Given the description of an element on the screen output the (x, y) to click on. 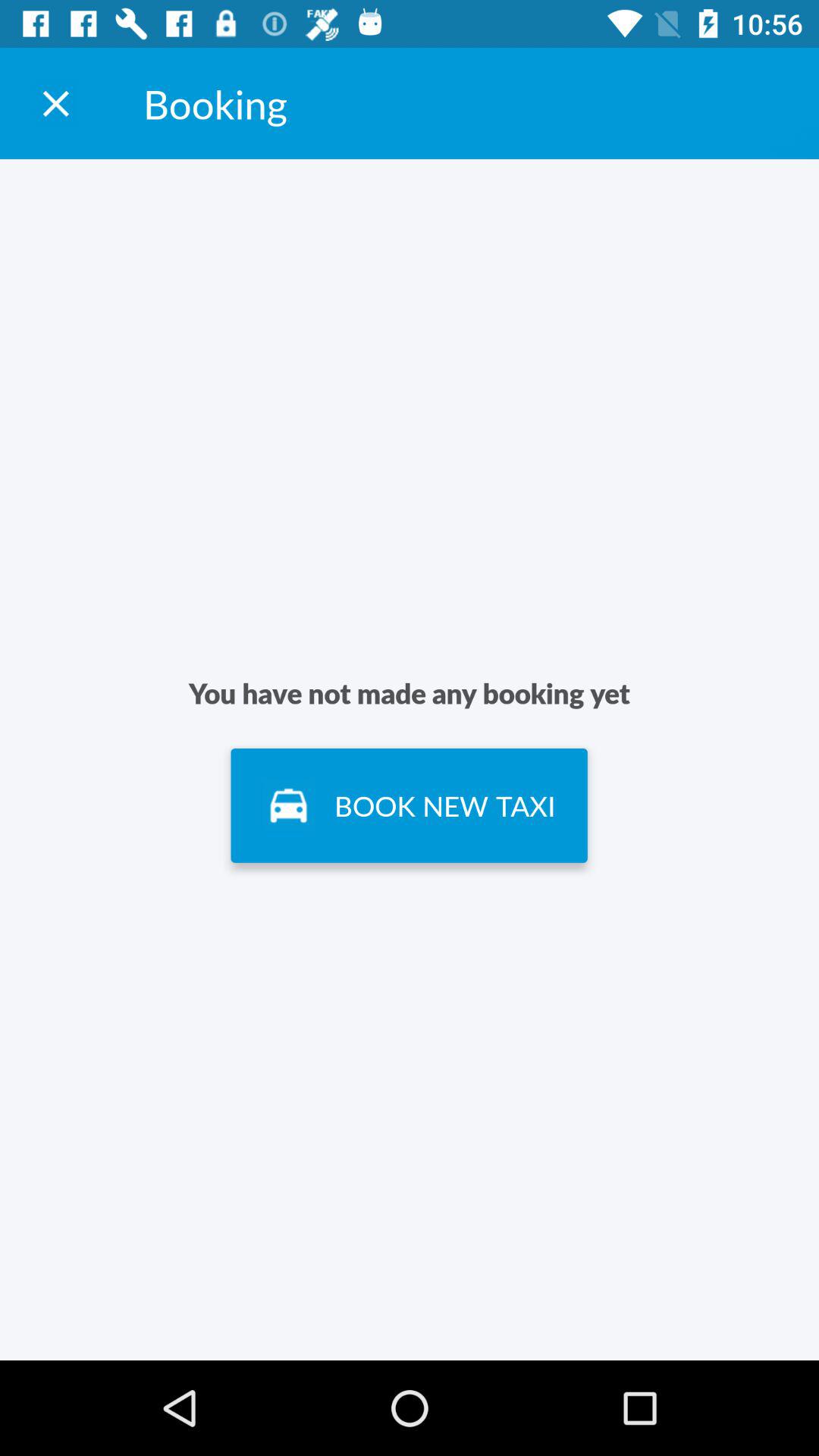
exit (55, 103)
